Given the description of an element on the screen output the (x, y) to click on. 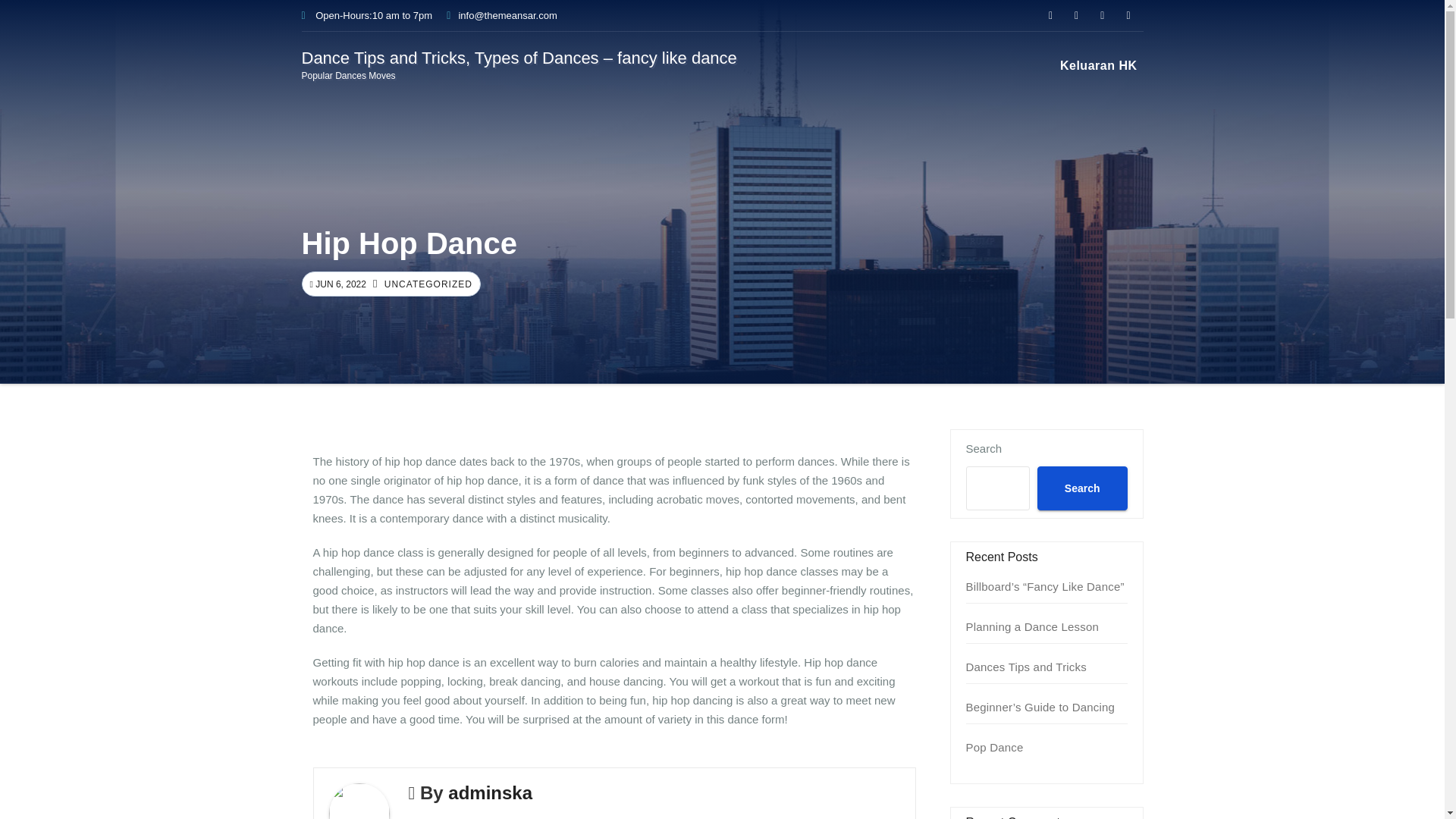
Pop Dance (994, 747)
Keluaran HK (1098, 65)
Dances Tips and Tricks (1026, 666)
Planning a Dance Lesson (1032, 626)
Keluaran HK (1098, 65)
adminska (490, 792)
Open-Hours:10 am to 7pm (366, 15)
Search (1081, 488)
UNCATEGORIZED (425, 284)
